Given the description of an element on the screen output the (x, y) to click on. 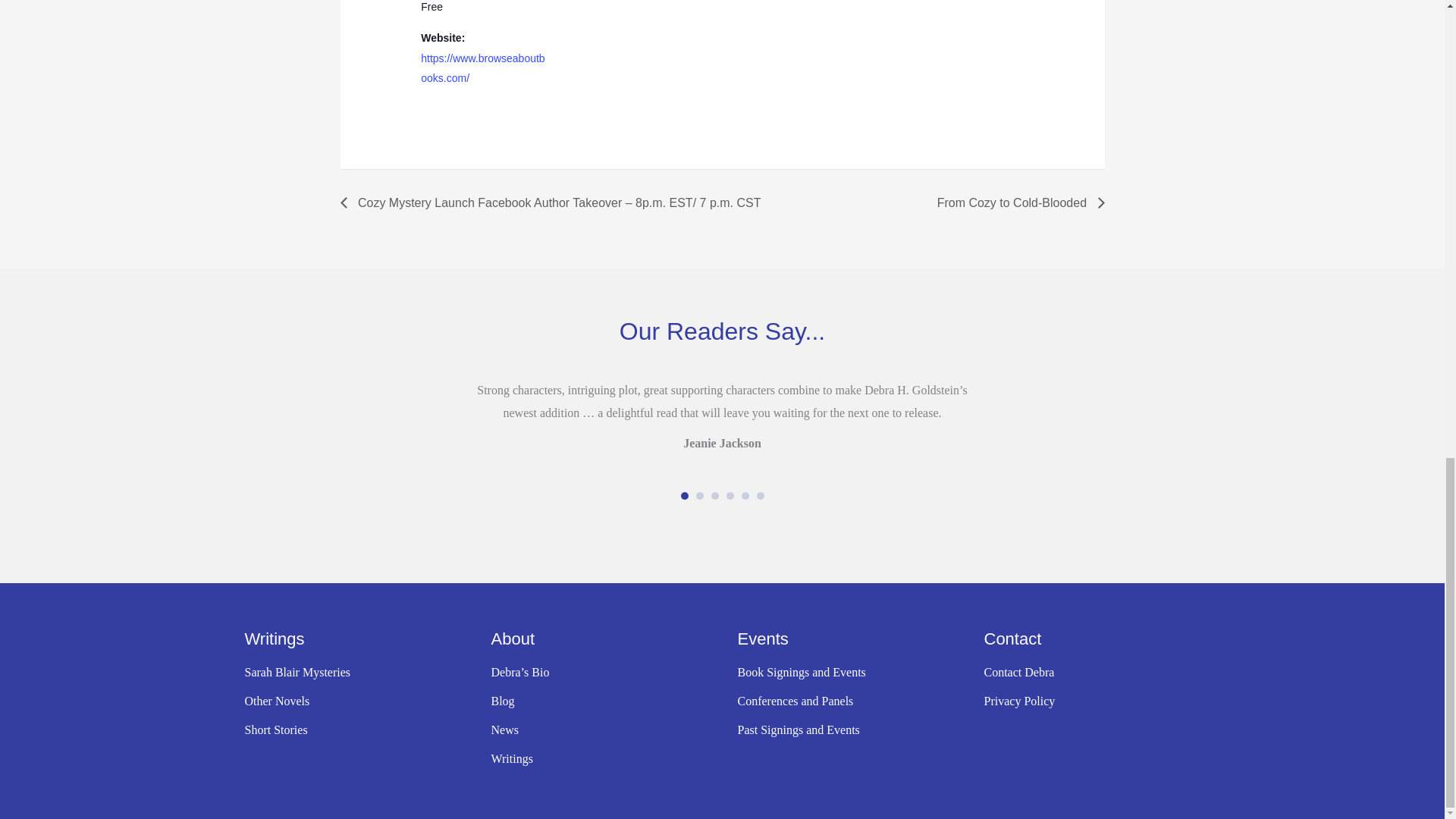
From Cozy to Cold-Blooded (1016, 202)
1 (684, 495)
